Given the description of an element on the screen output the (x, y) to click on. 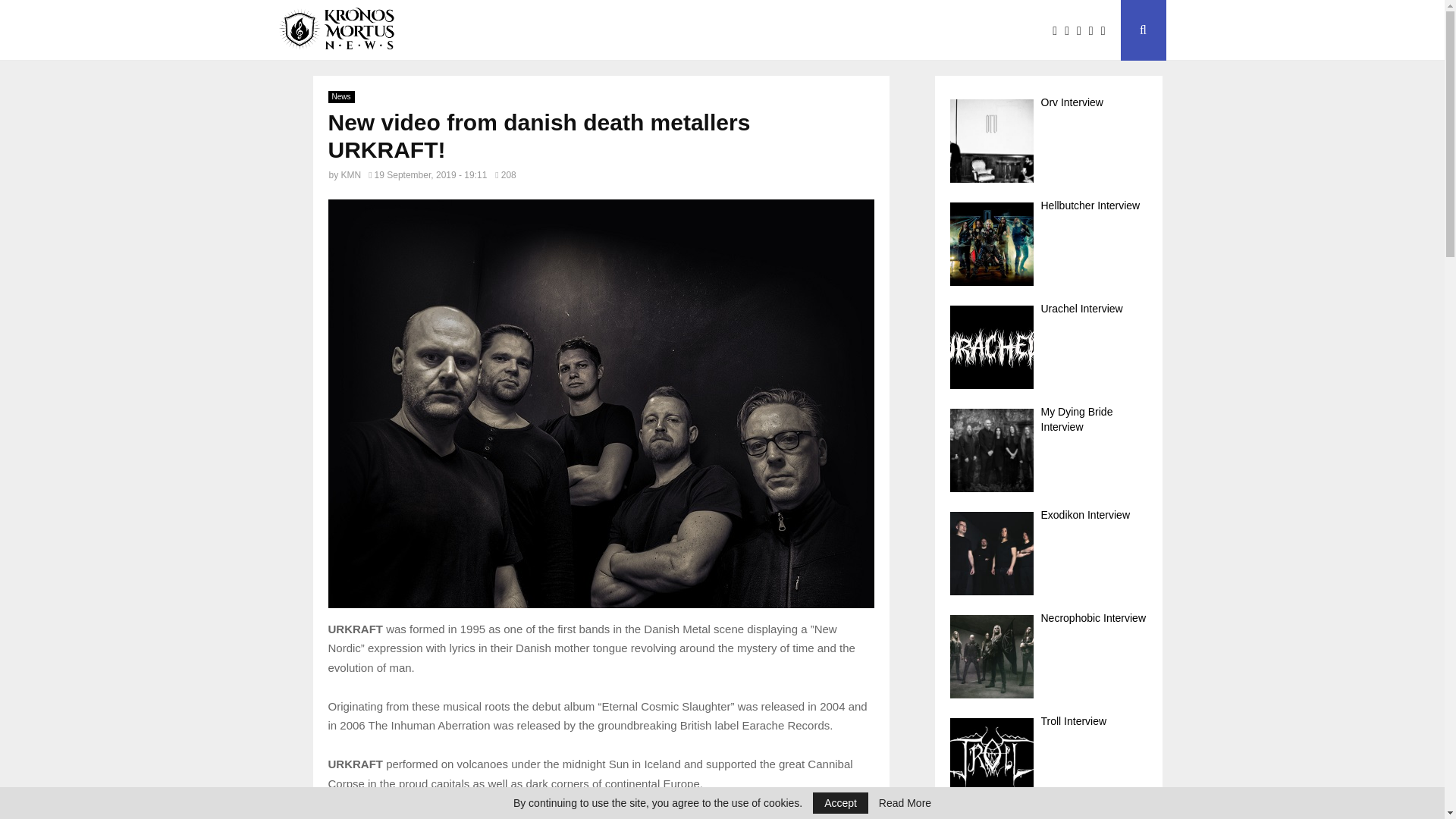
Hellbutcher Interview (1048, 244)
My Dying Bride Interview (1048, 450)
Urachel Interview (1048, 347)
FEEDBACK (733, 30)
PREMIERES (641, 30)
Orv Interview (1048, 140)
Exodikon Interview (1048, 552)
INTERVIEWS (545, 30)
NEWS (465, 30)
KMN (350, 174)
News (340, 96)
